Given the description of an element on the screen output the (x, y) to click on. 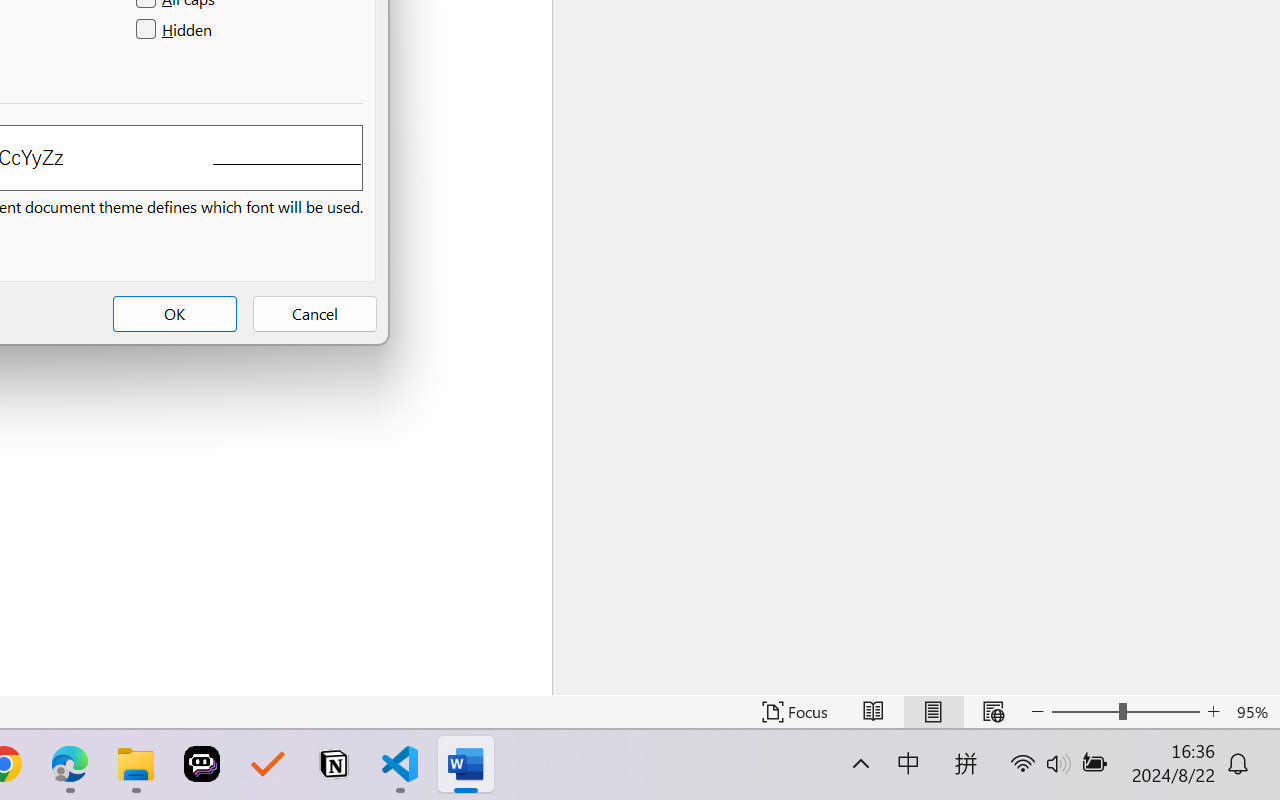
Hidden (175, 29)
Zoom 95% (1253, 712)
Cancel (314, 313)
